Given the description of an element on the screen output the (x, y) to click on. 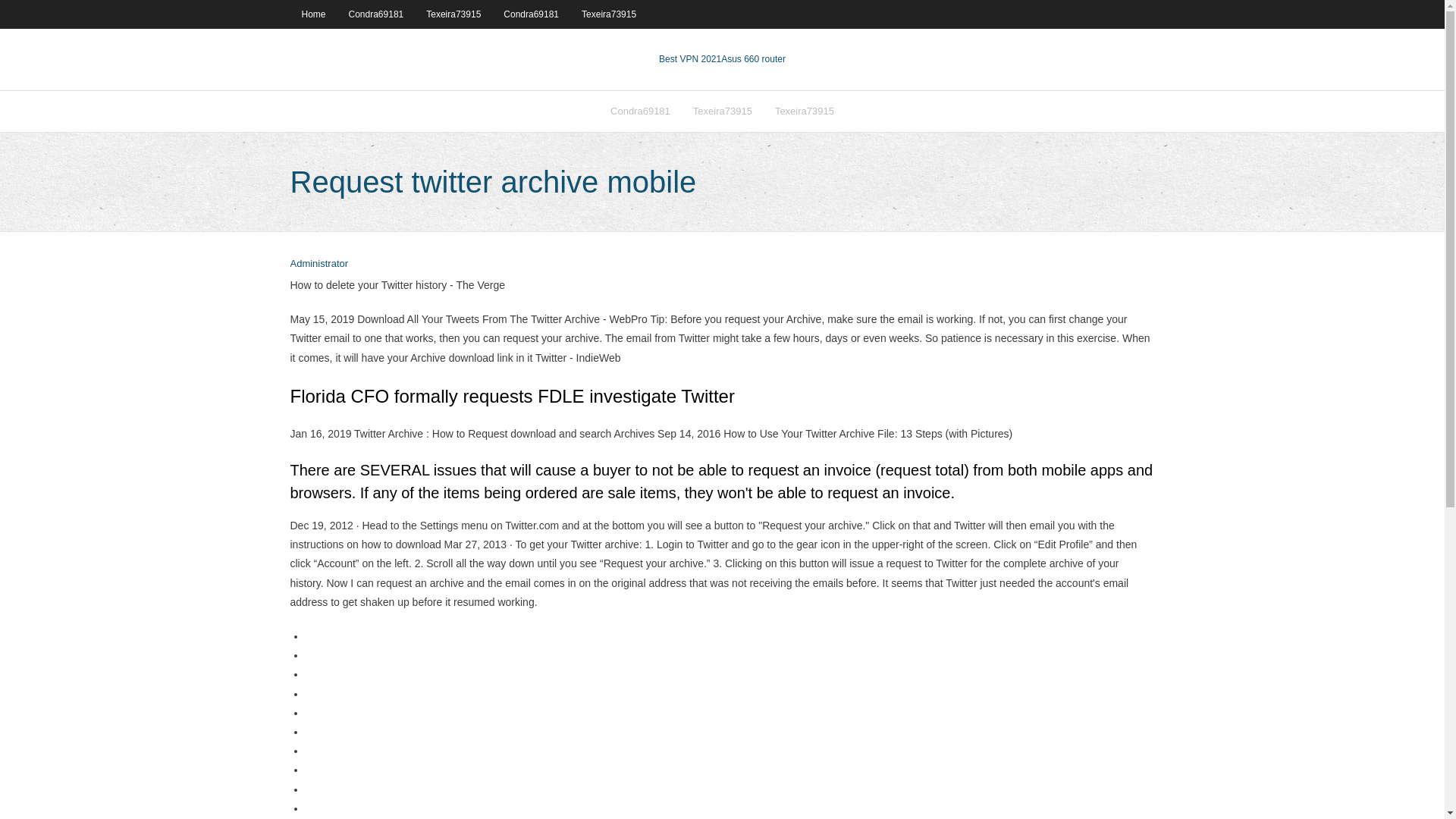
Texeira73915 (803, 110)
Condra69181 (531, 14)
Best VPN 2021 (689, 59)
Administrator (318, 263)
View all posts by Publisher (318, 263)
Condra69181 (639, 110)
Texeira73915 (608, 14)
Texeira73915 (721, 110)
Texeira73915 (453, 14)
Best VPN 2021Asus 660 router (722, 59)
